Given the description of an element on the screen output the (x, y) to click on. 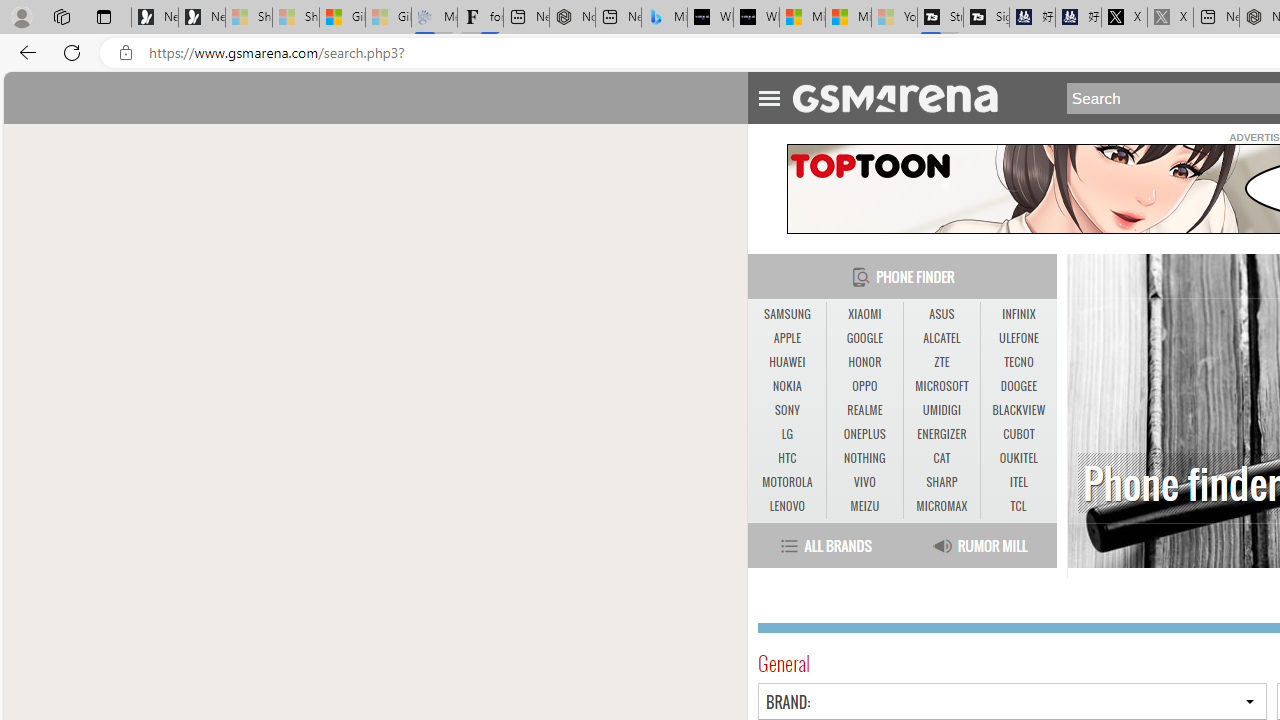
LG (786, 434)
MOTOROLA (786, 482)
MEIZU (864, 506)
ZTE (941, 362)
INFINIX (1018, 313)
VIVO (864, 483)
LENOVO (786, 506)
NOTHING (864, 458)
